Given the description of an element on the screen output the (x, y) to click on. 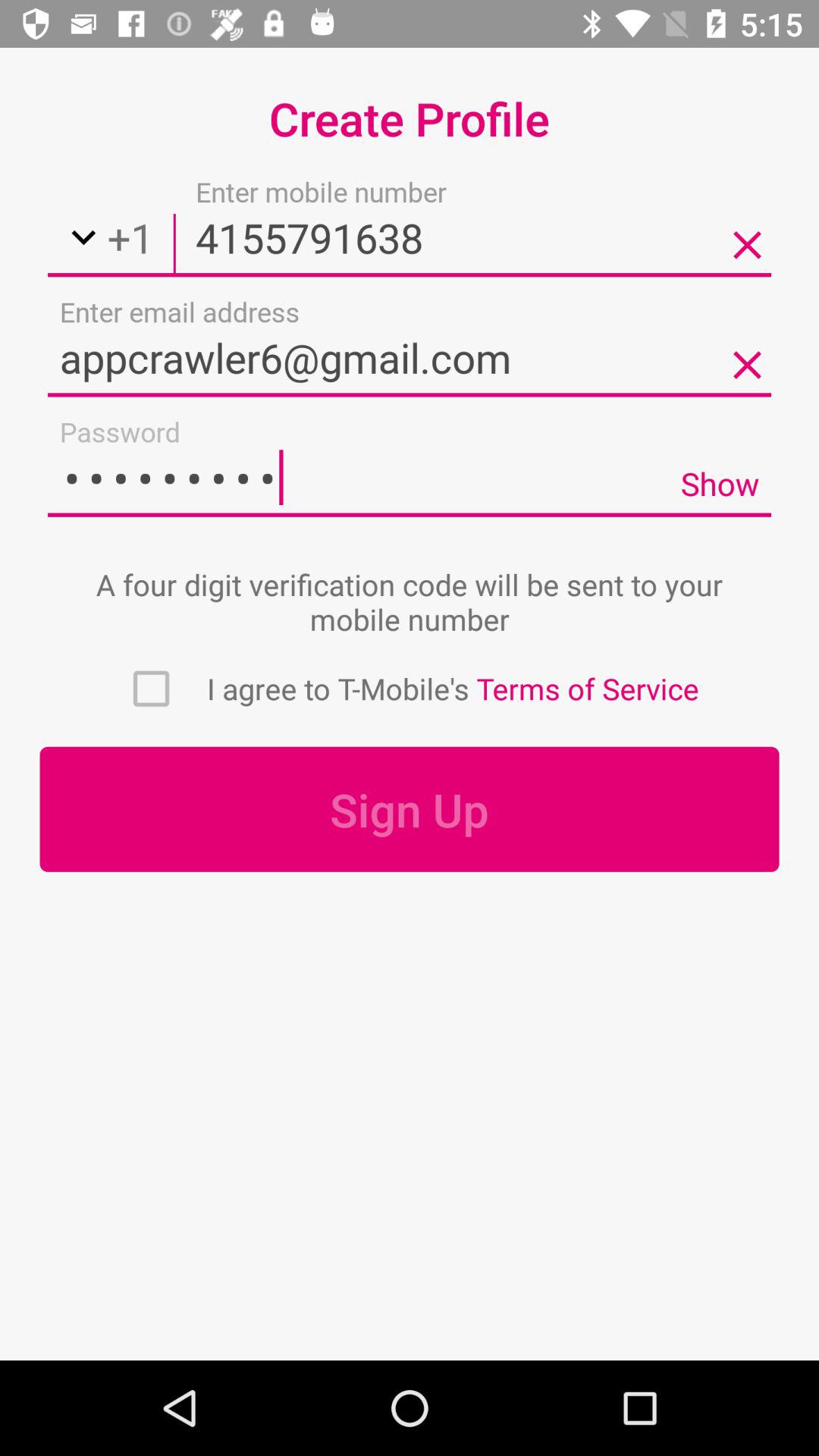
enter password (357, 477)
